Given the description of an element on the screen output the (x, y) to click on. 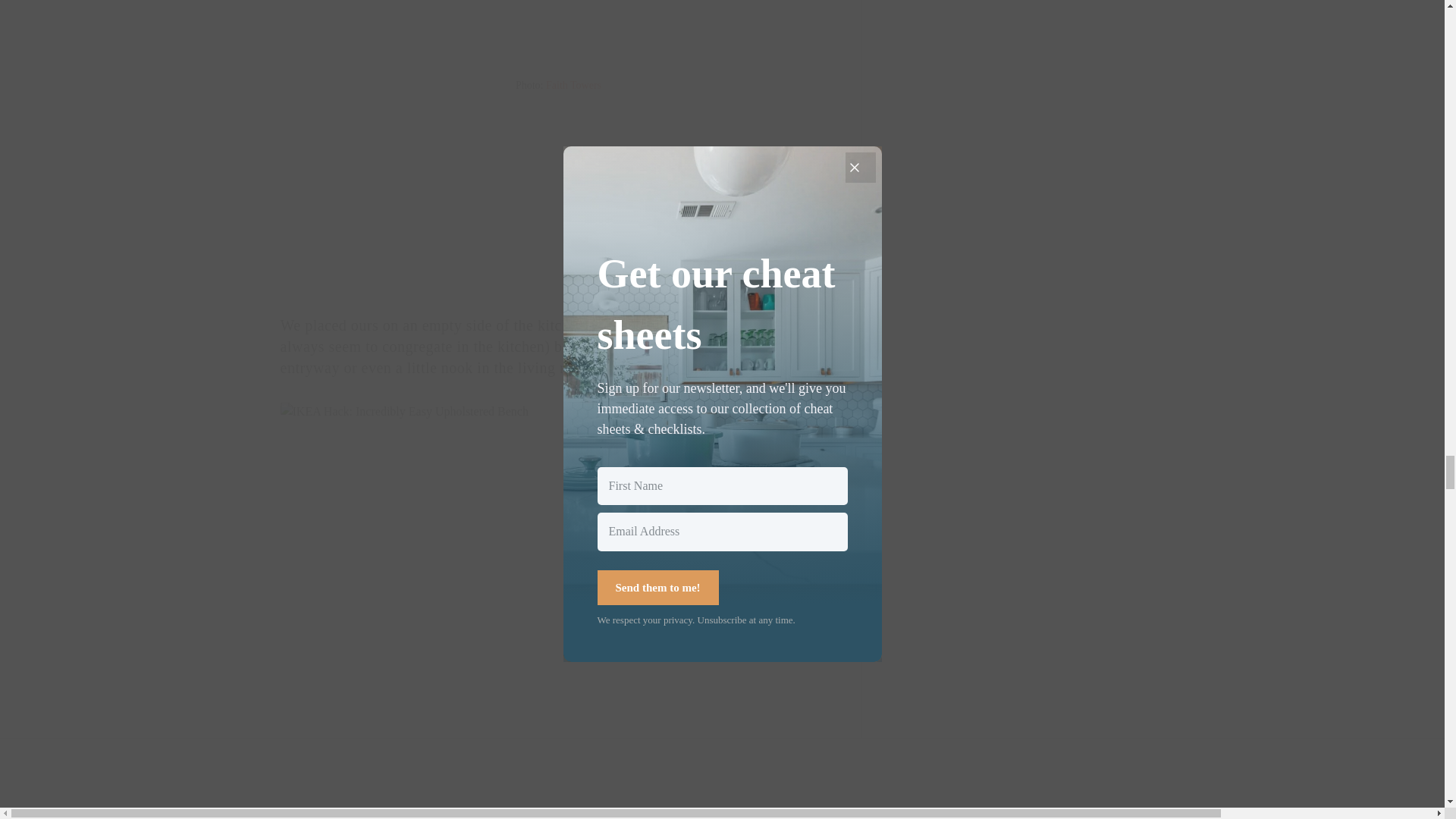
Faith Towers (573, 84)
